Given the description of an element on the screen output the (x, y) to click on. 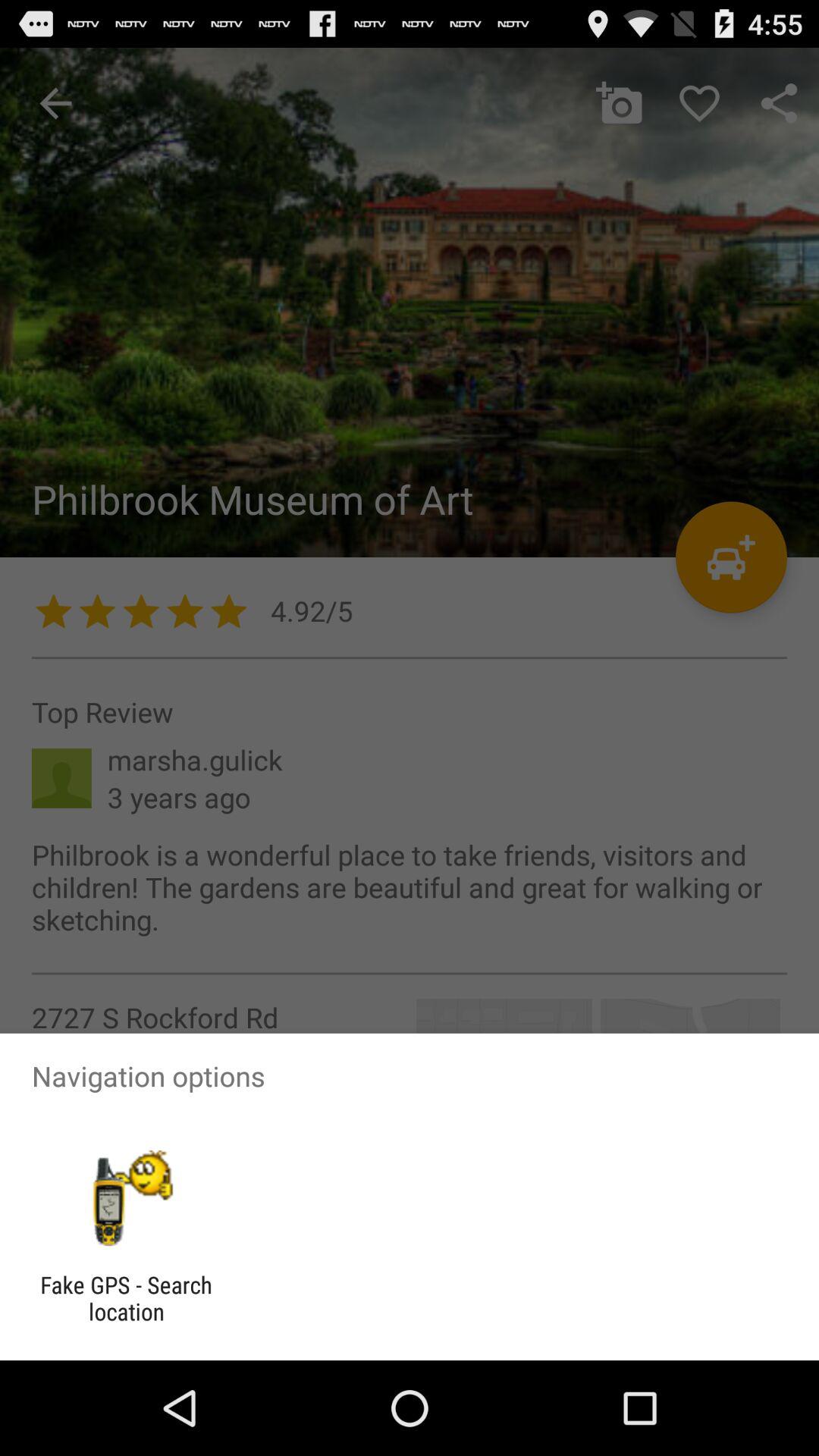
turn off item below navigation options item (126, 1198)
